Given the description of an element on the screen output the (x, y) to click on. 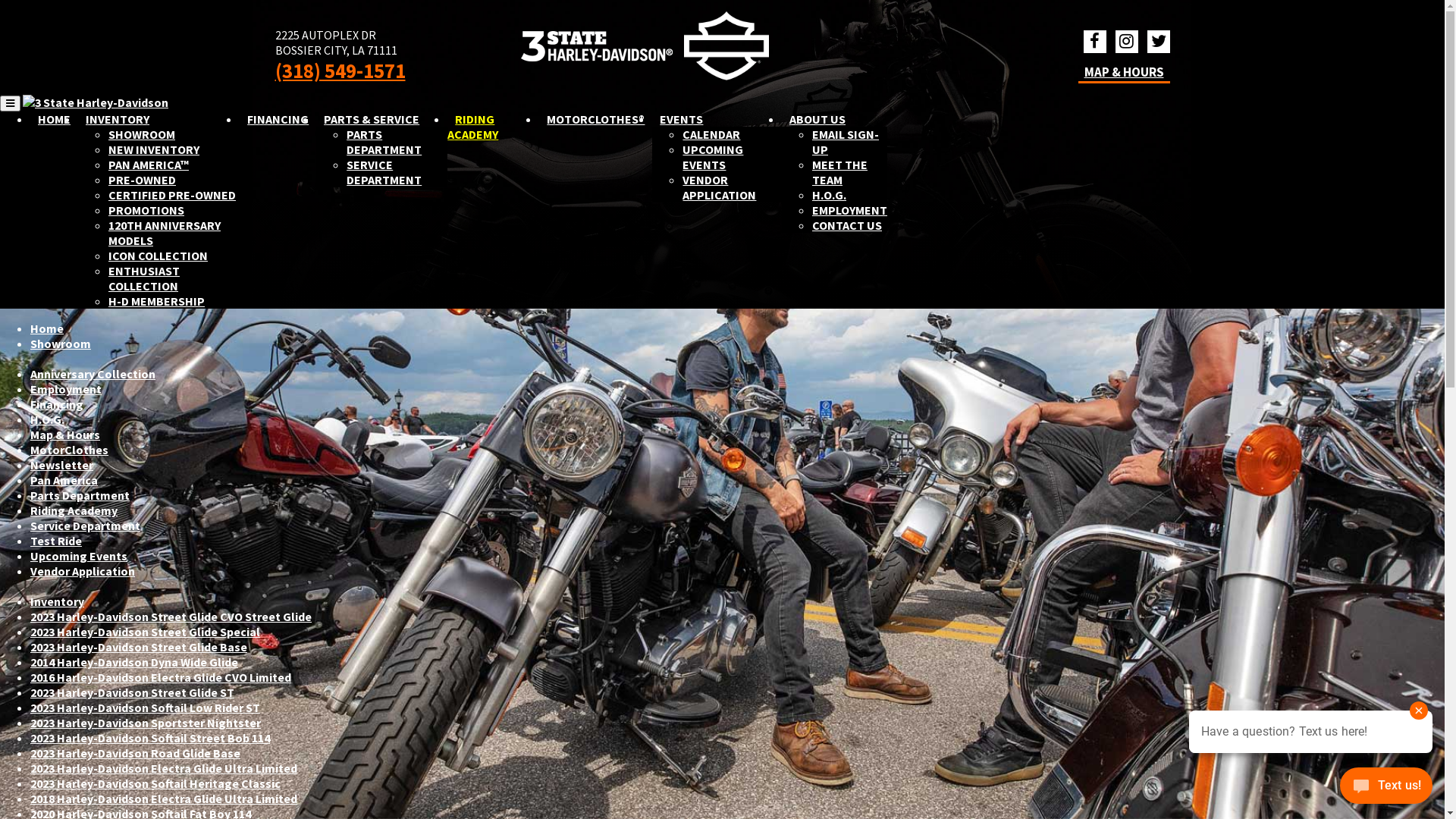
H.O.G. Element type: text (829, 194)
EVENTS Element type: text (681, 119)
MEET THE TEAM Element type: text (839, 171)
Home Element type: text (46, 327)
Parts Department Element type: text (79, 494)
SHOWROOM Element type: text (141, 133)
PROMOTIONS Element type: text (146, 209)
Showroom Element type: text (60, 343)
2023 Harley-Davidson Road Glide Base Element type: text (135, 752)
EMAIL SIGN-UP Element type: text (845, 141)
120TH ANNIVERSARY MODELS Element type: text (164, 232)
2023 Harley-Davidson Street Glide Special Element type: text (145, 631)
H-D MEMBERSHIP Element type: text (156, 300)
Employment Element type: text (65, 388)
Pan America Element type: text (63, 479)
VENDOR APPLICATION Element type: text (719, 187)
PARTS DEPARTMENT Element type: text (383, 141)
Vendor Application Element type: text (82, 570)
EMPLOYMENT Element type: text (849, 209)
RIDING ACADEMY Element type: text (476, 126)
Visit us on Facebook Element type: hover (1093, 41)
Upcoming Events Element type: text (78, 555)
2023 Harley-Davidson Softail Street Bob 114 Element type: text (149, 737)
UPCOMING EVENTS Element type: text (712, 156)
Inventory Element type: text (57, 600)
Toggle navigation Element type: text (10, 103)
Financing Element type: text (56, 403)
SERVICE DEPARTMENT Element type: text (383, 171)
CONTACT US Element type: text (846, 224)
Riding Academy Element type: text (73, 509)
Test Ride Element type: text (55, 540)
HOME Element type: text (54, 119)
MAP & HOURS Element type: text (1124, 71)
CERTIFIED PRE-OWNED Element type: text (171, 194)
PARTS & SERVICE Element type: text (371, 119)
2023 Harley-Davidson Street Glide ST Element type: text (132, 691)
2023 Harley-Davidson Electra Glide Ultra Limited Element type: text (163, 767)
2023 Harley-Davidson Street Glide CVO Street Glide Element type: text (170, 616)
Newsletter Element type: text (61, 464)
Anniversary Collection Element type: text (92, 373)
2014 Harley-Davidson Dyna Wide Glide Element type: text (134, 661)
PRE-OWNED Element type: text (141, 179)
2023 Harley-Davidson Softail Heritage Classic Element type: text (155, 782)
ICON COLLECTION Element type: text (157, 255)
2016 Harley-Davidson Electra Glide CVO Limited Element type: text (160, 676)
INVENTORY Element type: text (117, 119)
CALENDAR Element type: text (711, 133)
Service Department Element type: text (85, 525)
H.O.G. Element type: text (47, 418)
MotorClothes Element type: text (69, 449)
ABOUT US Element type: text (817, 119)
ENTHUSIAST COLLECTION Element type: text (143, 278)
2023 Harley-Davidson Street Glide Base Element type: text (138, 646)
(318) 549-1571 Element type: text (339, 70)
Map & Hours Element type: text (65, 434)
2023 Harley-Davidson Softail Low Rider ST Element type: text (145, 707)
2018 Harley-Davidson Electra Glide Ultra Limited Element type: text (163, 798)
Follow us on Instagram Element type: hover (1125, 41)
Follow us on Twitter Element type: hover (1157, 41)
NEW INVENTORY Element type: text (153, 148)
FINANCING Element type: text (277, 119)
2023 Harley-Davidson Sportster Nightster Element type: text (145, 722)
